Given the description of an element on the screen output the (x, y) to click on. 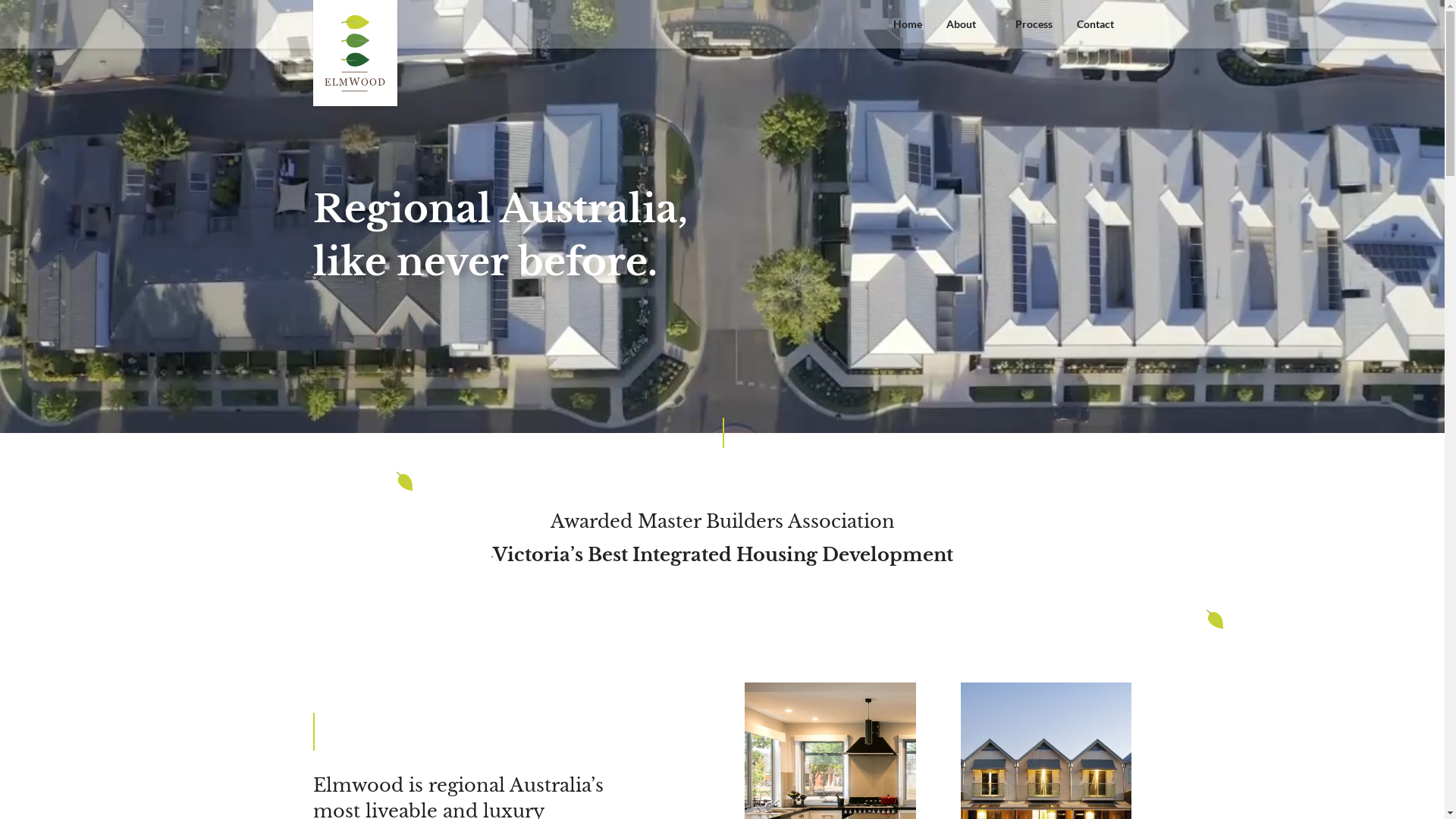
Contact Element type: text (1094, 31)
About Element type: text (968, 31)
Process Element type: text (1032, 31)
Home Element type: text (907, 31)
